Given the description of an element on the screen output the (x, y) to click on. 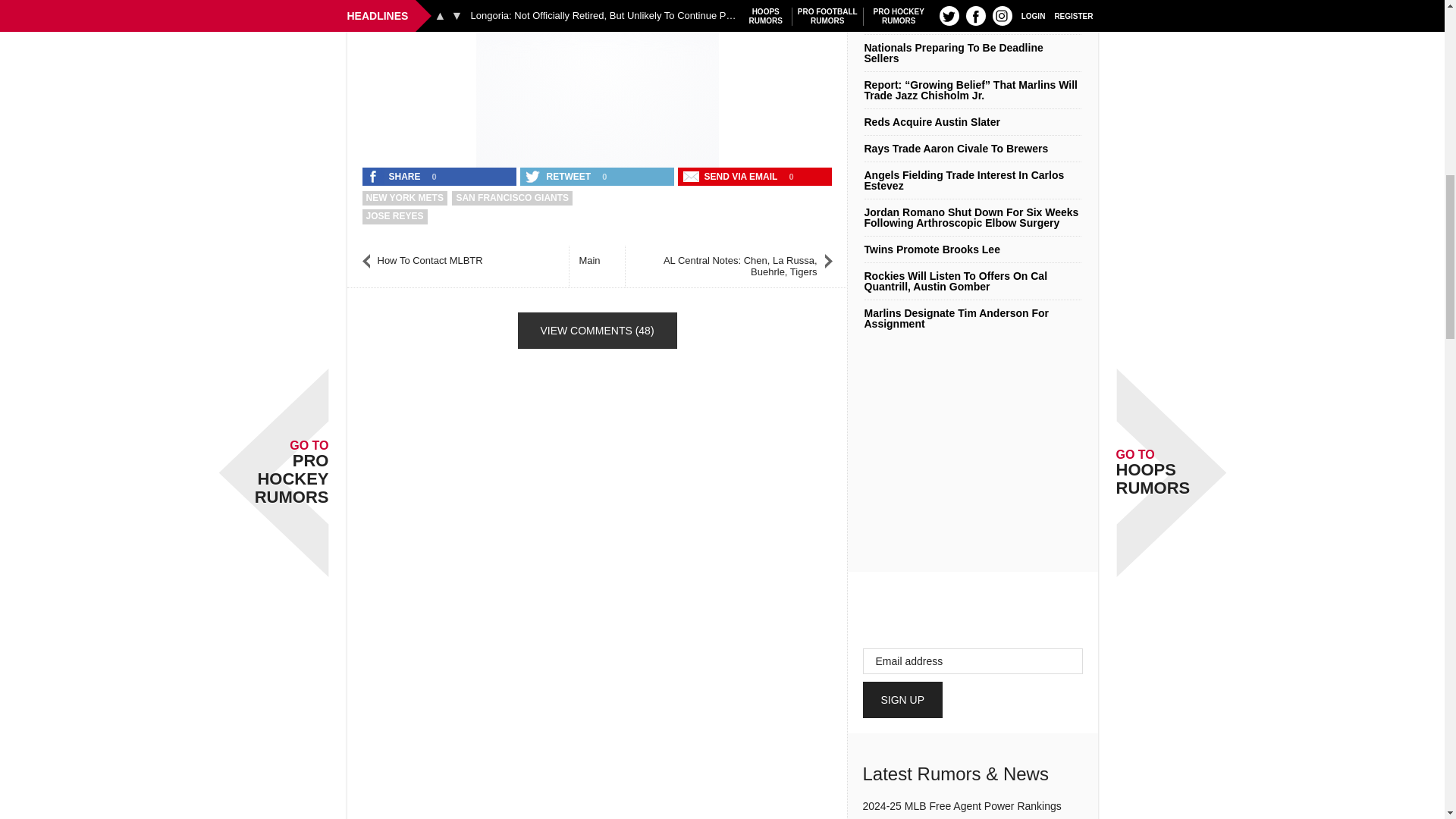
Sign Up (903, 699)
Retweet 'Jose Reyes Rumors: Thursday' on Twitter (558, 176)
3rd party ad content (597, 79)
Share 'Jose Reyes Rumors: Thursday' on Facebook (395, 176)
Send Jose Reyes Rumors: Thursday with an email (732, 176)
